Given the description of an element on the screen output the (x, y) to click on. 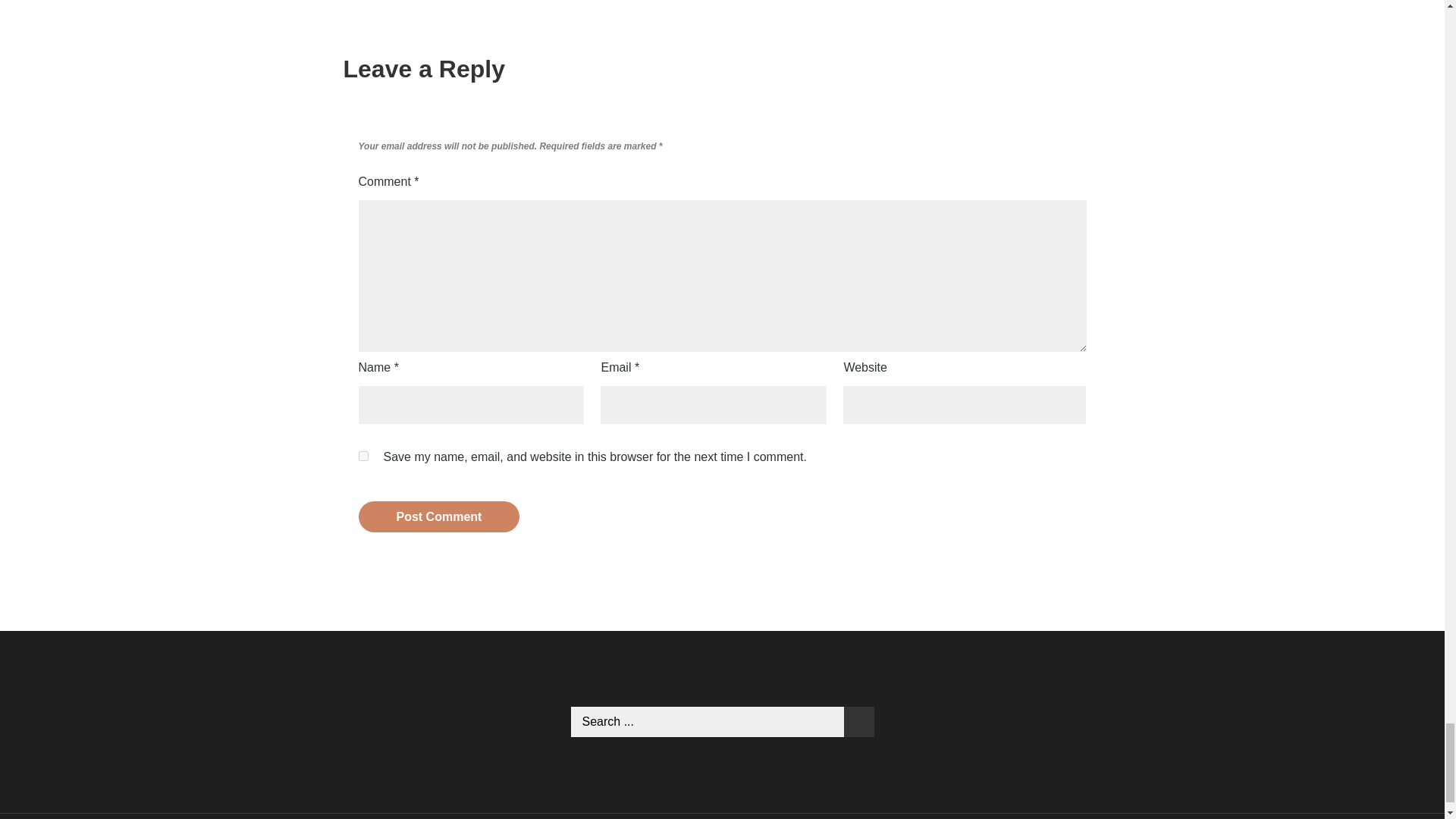
yes (363, 456)
Search for: (721, 721)
Post Comment (438, 516)
